Given the description of an element on the screen output the (x, y) to click on. 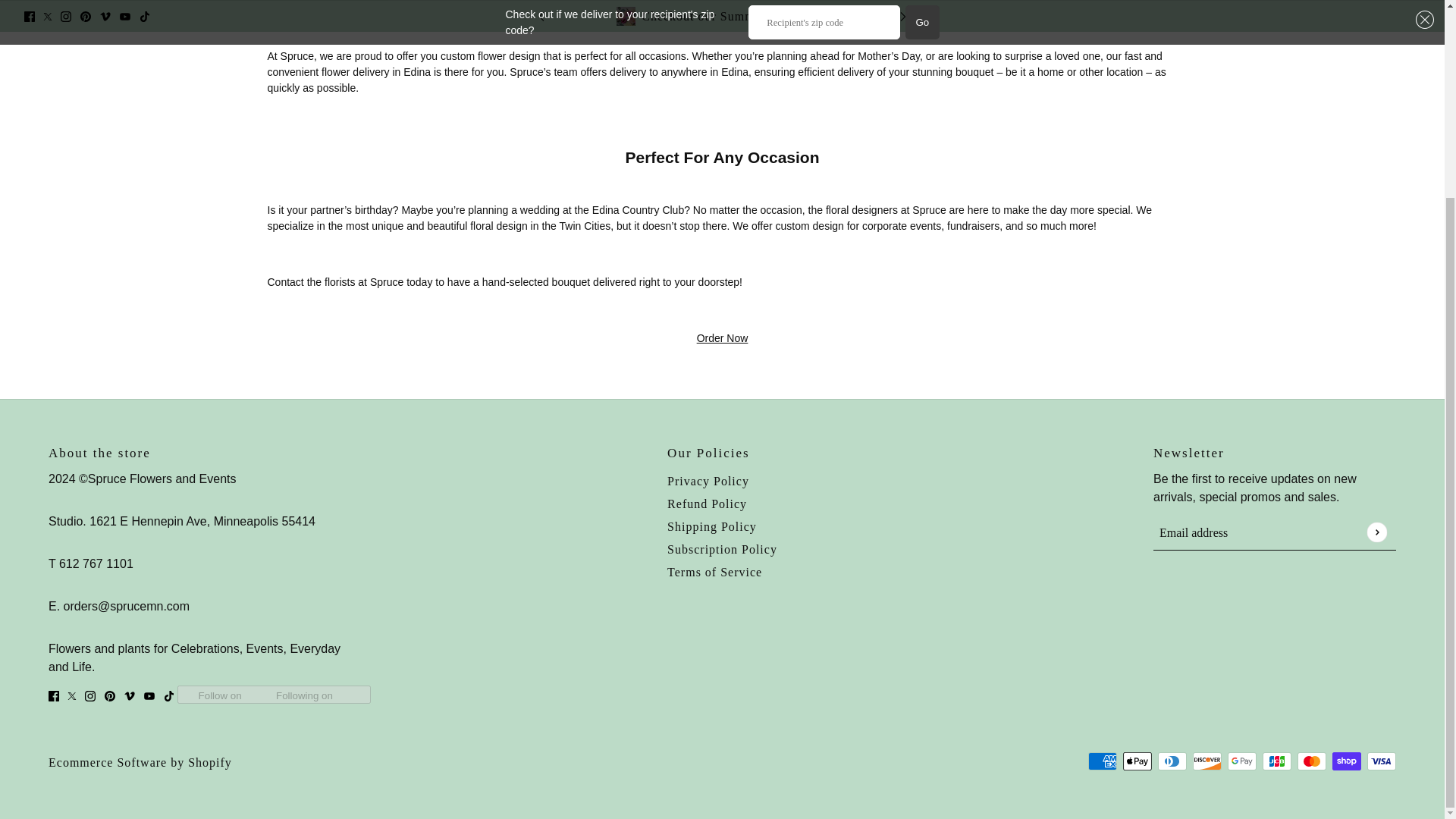
Refund Policy (706, 503)
Terms of Service (713, 571)
Shipping Policy (711, 526)
Subscription Policy (721, 549)
Privacy Policy (707, 481)
